Given the description of an element on the screen output the (x, y) to click on. 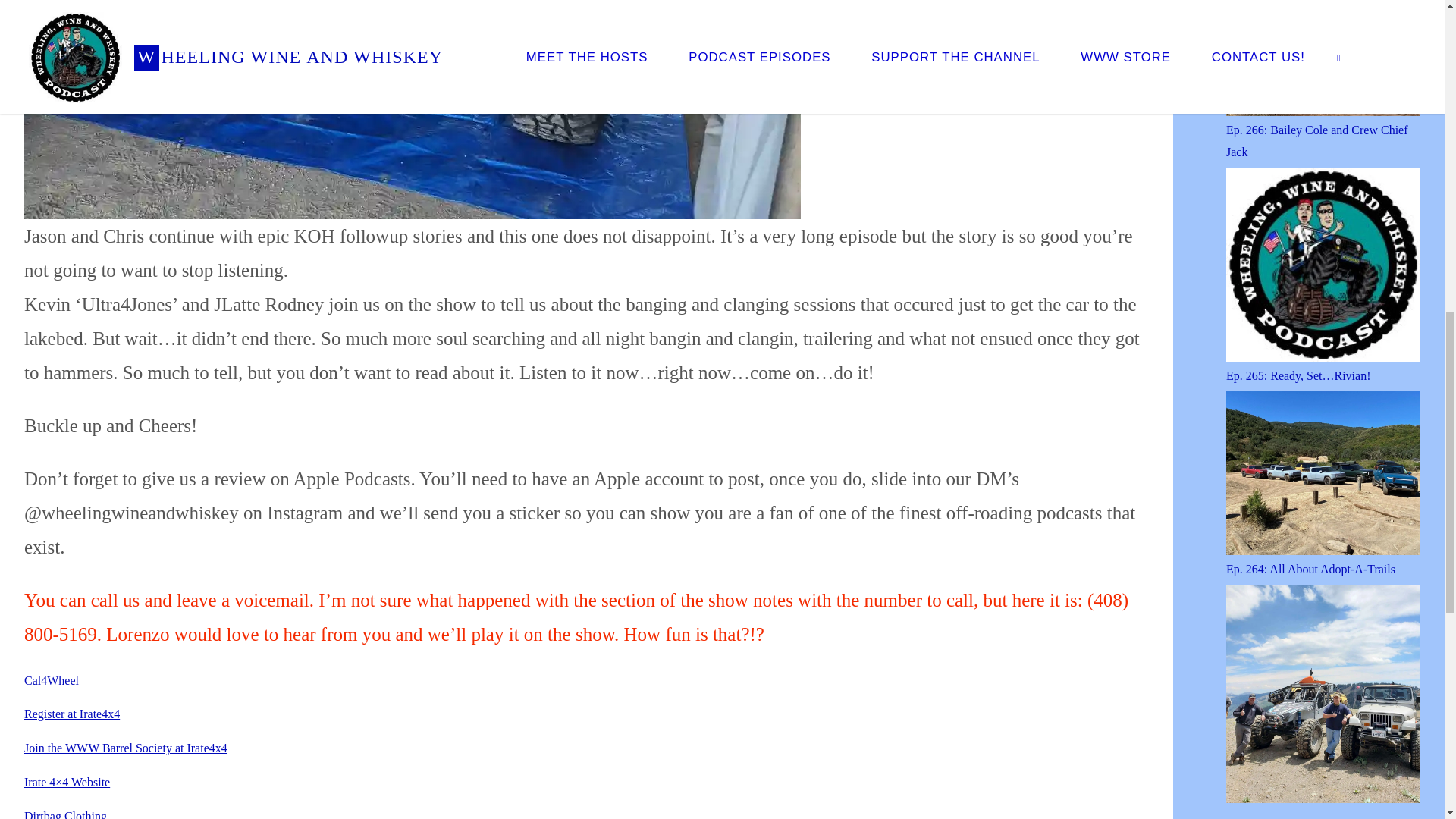
Register at Irate4x4 (71, 713)
Dirtbag Clothing (65, 814)
Join the WWW Barrel Society at Irate4x4 (125, 748)
Cal4Wheel (51, 680)
